Given the description of an element on the screen output the (x, y) to click on. 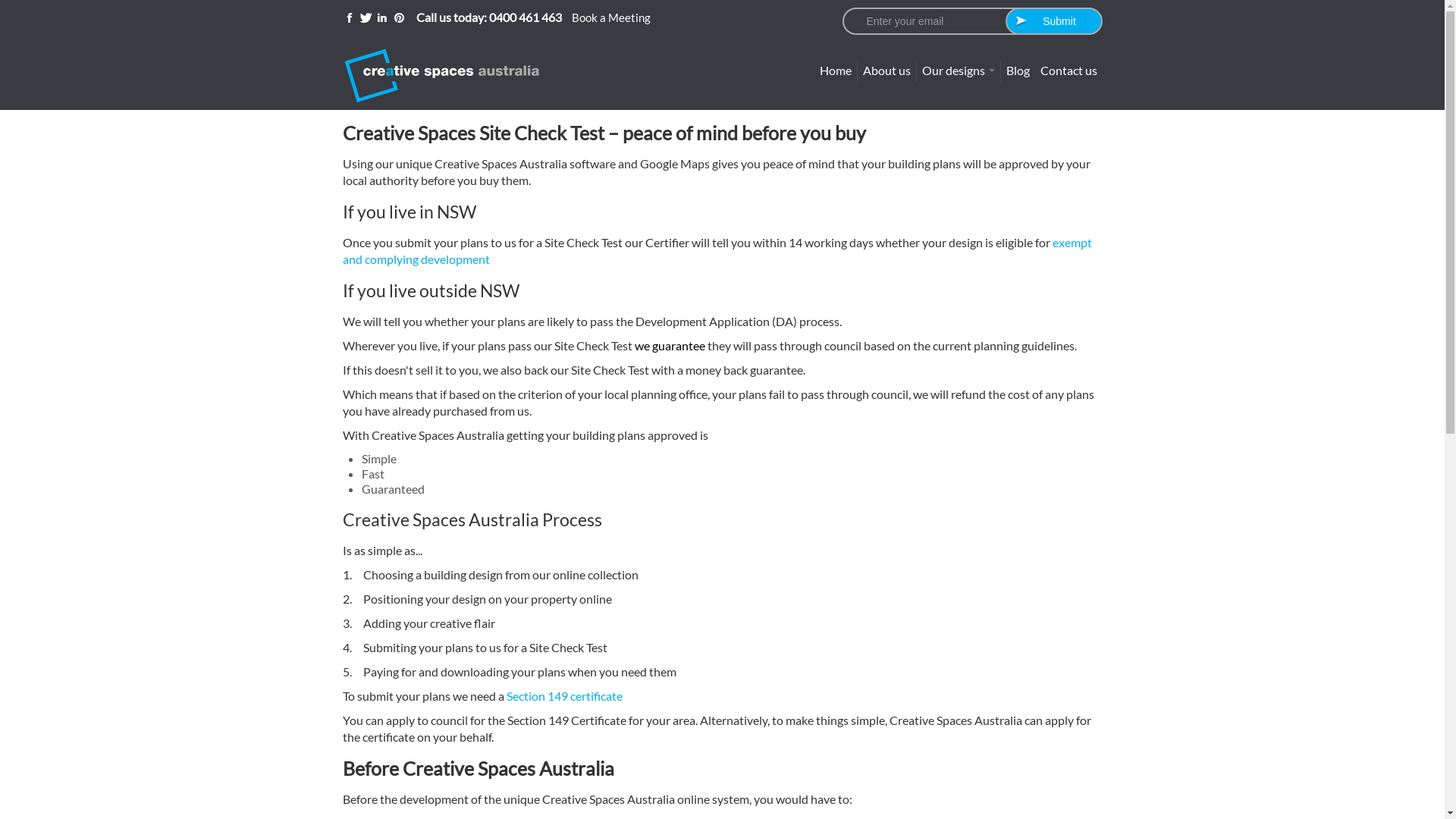
Our designs Element type: text (957, 70)
exempt and complying development Element type: text (717, 250)
Home Element type: text (835, 70)
Submit Element type: text (1053, 20)
Contact us Element type: text (1067, 70)
About us Element type: text (885, 70)
Blog Element type: text (1018, 70)
Section 149 certificate Element type: text (564, 695)
Book a Meeting Element type: text (610, 17)
